Given the description of an element on the screen output the (x, y) to click on. 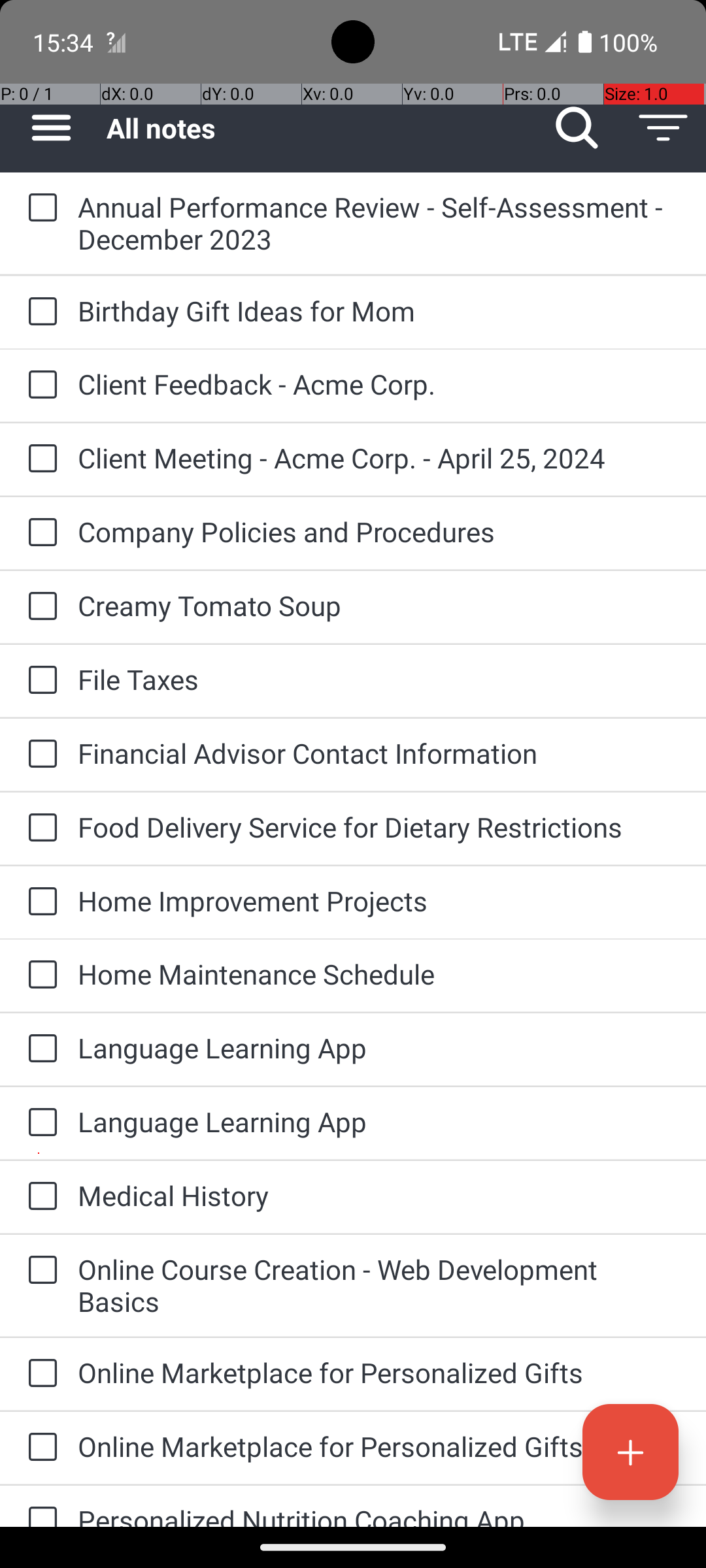
to-do: Annual Performance Review - Self-Assessment - December 2023 Element type: android.widget.CheckBox (38, 208)
Annual Performance Review - Self-Assessment - December 2023 Element type: android.widget.TextView (378, 222)
to-do: Birthday Gift Ideas for Mom Element type: android.widget.CheckBox (38, 312)
Birthday Gift Ideas for Mom Element type: android.widget.TextView (378, 310)
to-do: Client Feedback - Acme Corp. Element type: android.widget.CheckBox (38, 385)
Client Feedback - Acme Corp. Element type: android.widget.TextView (378, 383)
to-do: Client Meeting - Acme Corp. - April 25, 2024 Element type: android.widget.CheckBox (38, 459)
Client Meeting - Acme Corp. - April 25, 2024 Element type: android.widget.TextView (378, 457)
to-do: Company Policies and Procedures Element type: android.widget.CheckBox (38, 533)
Company Policies and Procedures Element type: android.widget.TextView (378, 531)
to-do: Creamy Tomato Soup Element type: android.widget.CheckBox (38, 606)
Creamy Tomato Soup Element type: android.widget.TextView (378, 604)
to-do: File Taxes Element type: android.widget.CheckBox (38, 680)
File Taxes Element type: android.widget.TextView (378, 678)
to-do: Food Delivery Service for Dietary Restrictions Element type: android.widget.CheckBox (38, 828)
Food Delivery Service for Dietary Restrictions Element type: android.widget.TextView (378, 826)
to-do: Home Improvement Projects Element type: android.widget.CheckBox (38, 902)
Home Improvement Projects Element type: android.widget.TextView (378, 900)
to-do: Home Maintenance Schedule Element type: android.widget.CheckBox (38, 975)
Home Maintenance Schedule Element type: android.widget.TextView (378, 973)
to-do: Language Learning App Element type: android.widget.CheckBox (38, 1049)
Language Learning App Element type: android.widget.TextView (378, 1047)
to-do: Medical History Element type: android.widget.CheckBox (38, 1196)
Medical History Element type: android.widget.TextView (378, 1194)
to-do: Online Course Creation - Web Development Basics Element type: android.widget.CheckBox (38, 1270)
Online Course Creation - Web Development Basics Element type: android.widget.TextView (378, 1284)
to-do: Online Marketplace for Personalized Gifts Element type: android.widget.CheckBox (38, 1374)
Online Marketplace for Personalized Gifts Element type: android.widget.TextView (378, 1371)
to-do: Personalized Nutrition Coaching App Element type: android.widget.CheckBox (38, 1505)
Personalized Nutrition Coaching App Element type: android.widget.TextView (378, 1513)
